Given the description of an element on the screen output the (x, y) to click on. 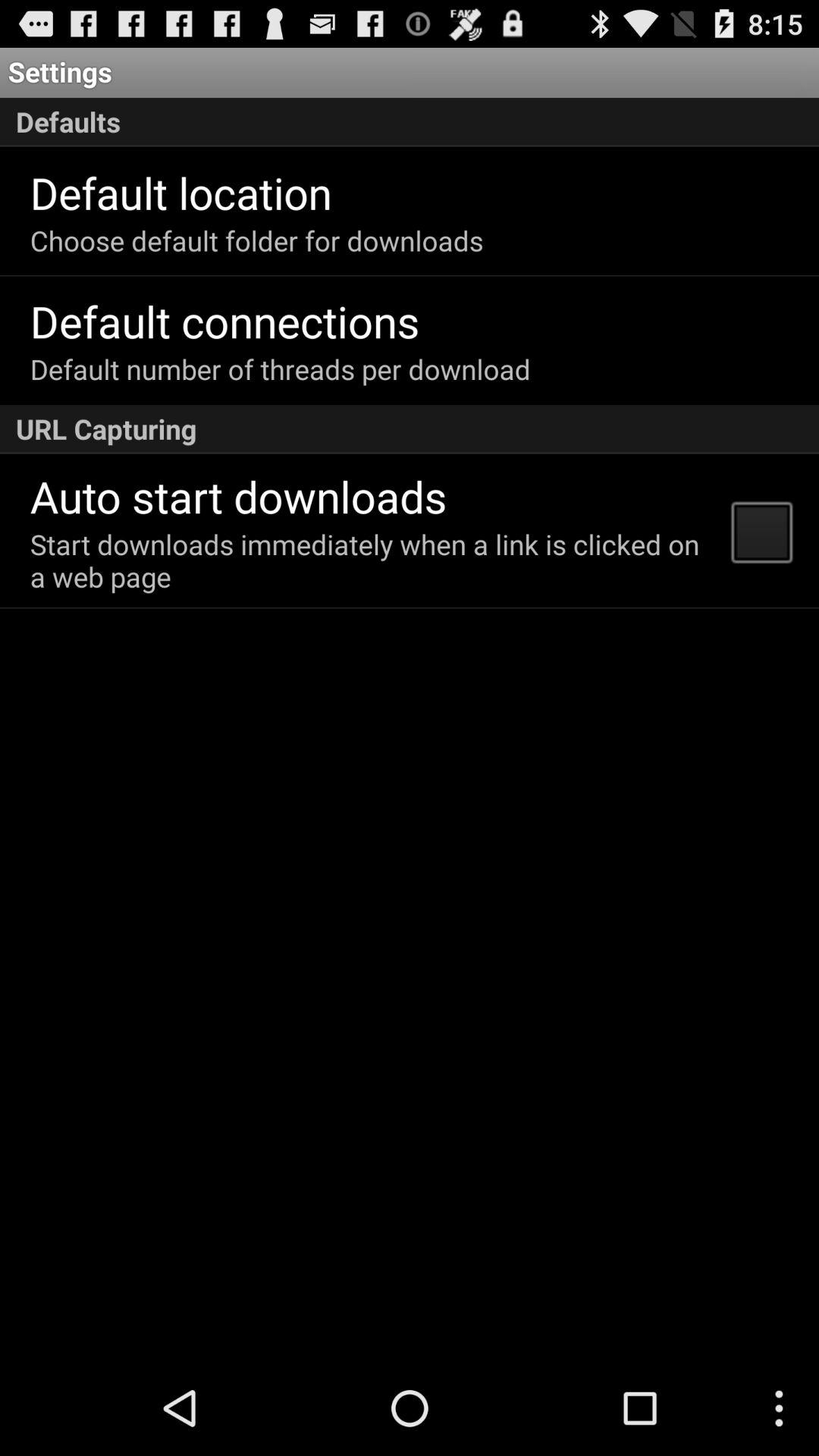
press item below the settings (409, 121)
